Given the description of an element on the screen output the (x, y) to click on. 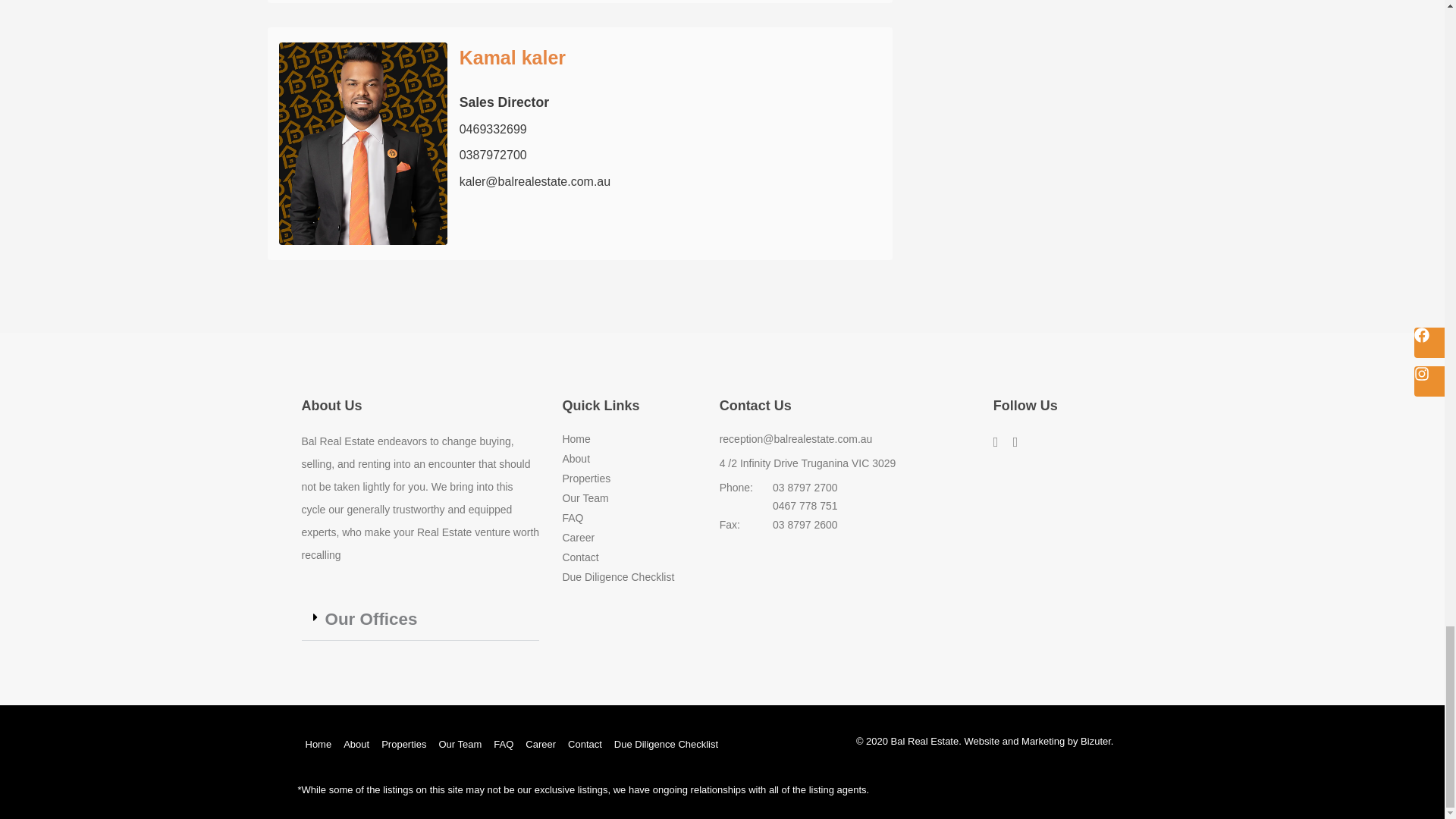
0387972700 (493, 154)
0469332699 (493, 128)
Kamal kaler (513, 56)
